Given the description of an element on the screen output the (x, y) to click on. 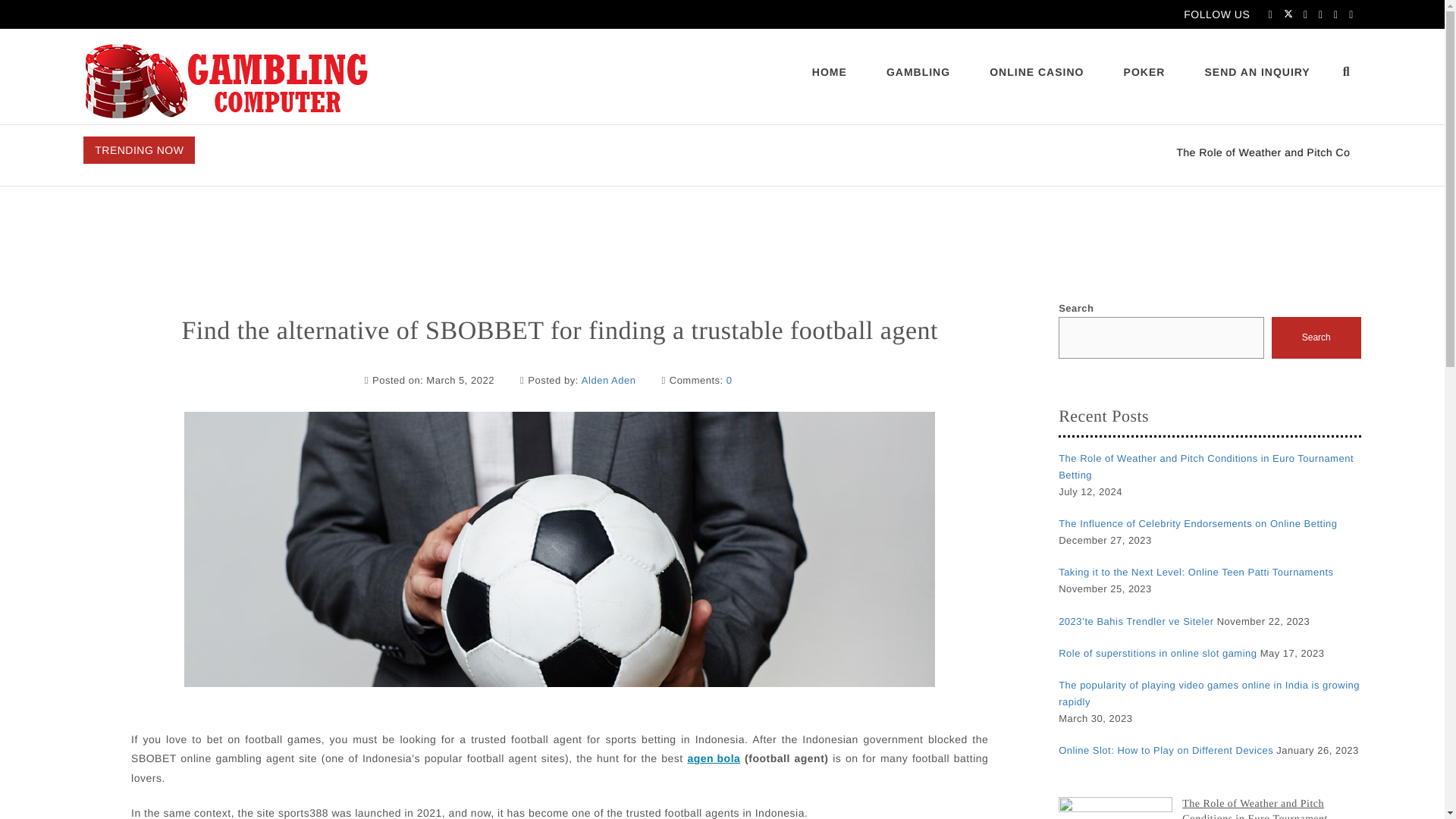
HOME (828, 71)
SEND AN INQUIRY (1256, 71)
POKER (1144, 71)
ONLINE CASINO (1036, 71)
Alden Aden (608, 380)
GAMBLING (917, 71)
